Given the description of an element on the screen output the (x, y) to click on. 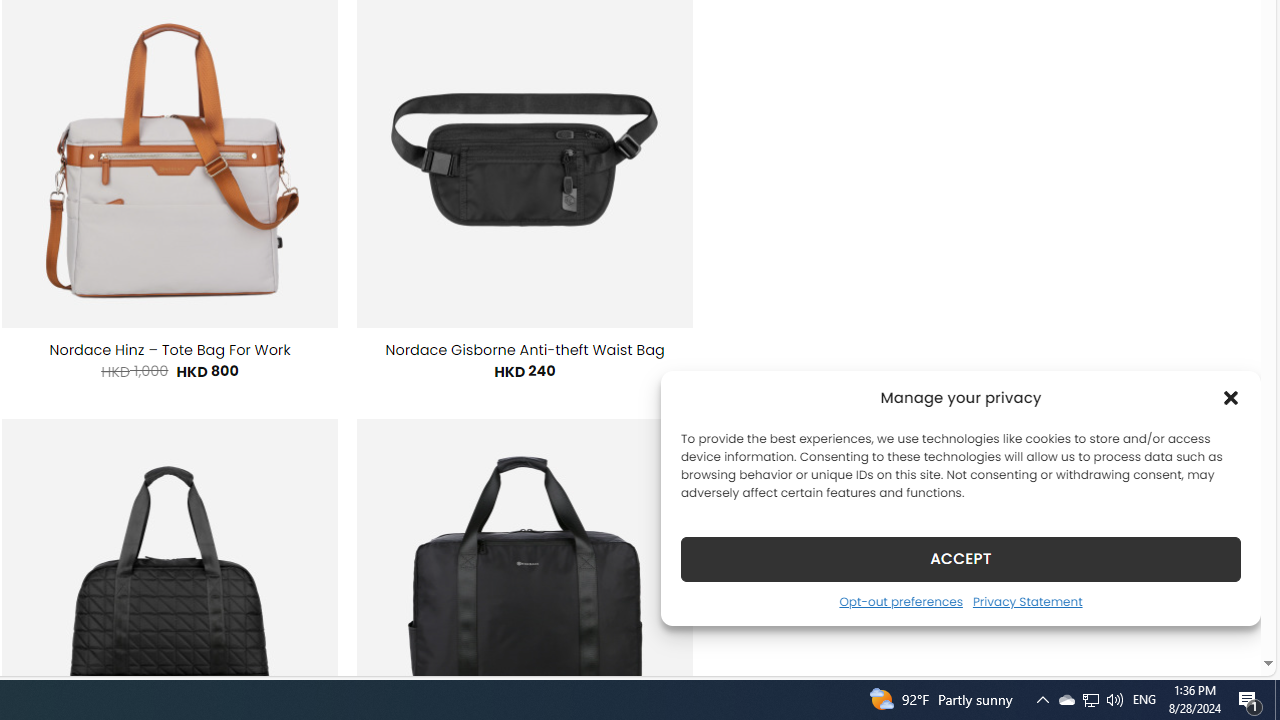
Opt-out preferences (900, 601)
ACCEPT (960, 558)
Nordace Gisborne Anti-theft Waist Bag (525, 350)
Privacy Statement (1026, 601)
Class: cmplz-close (1231, 397)
